Given the description of an element on the screen output the (x, y) to click on. 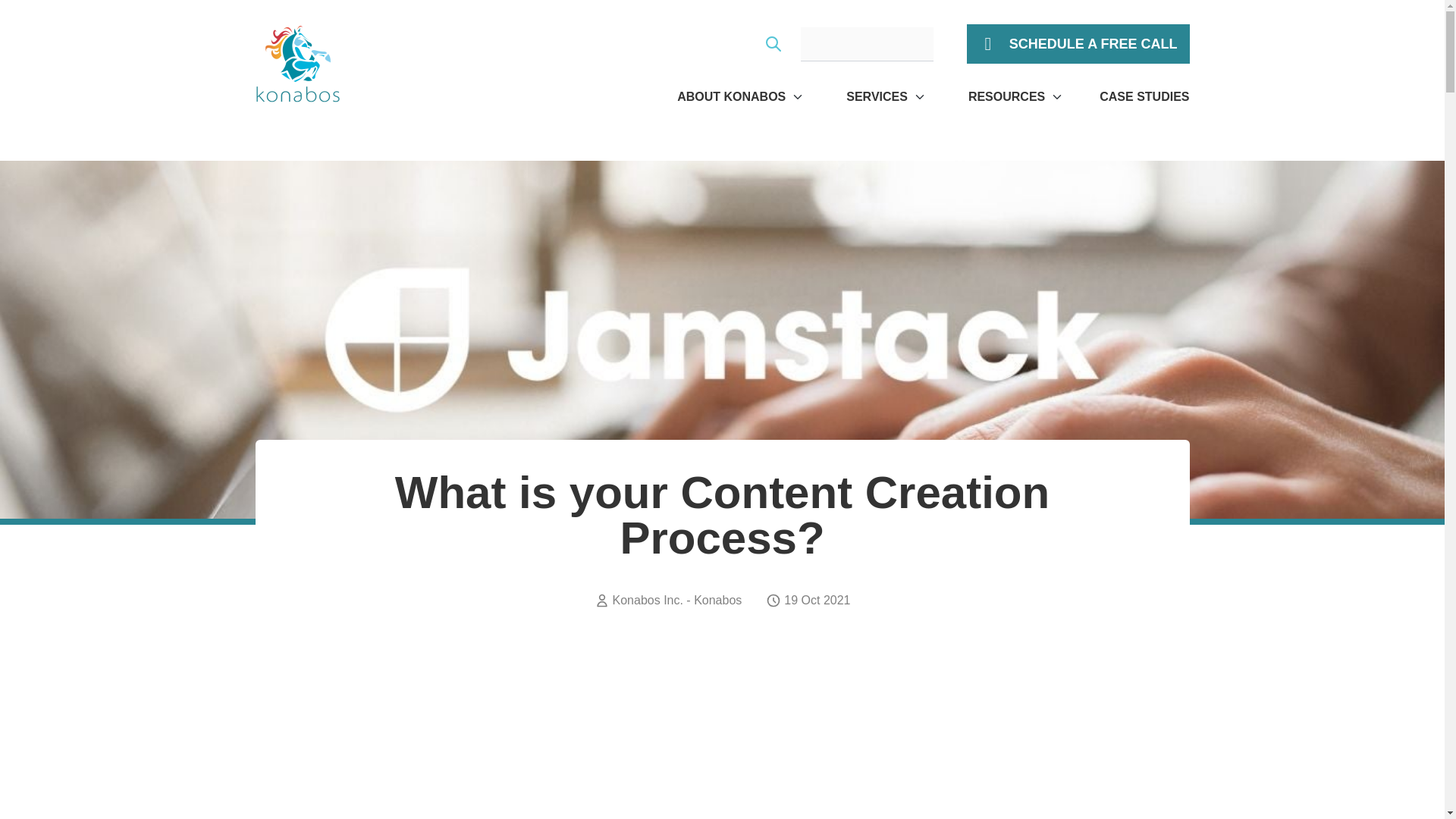
node (722, 744)
Konabos Logo (296, 63)
SCHEDULE A FREE CALL (1077, 43)
CASE STUDIES (1144, 96)
